Given the description of an element on the screen output the (x, y) to click on. 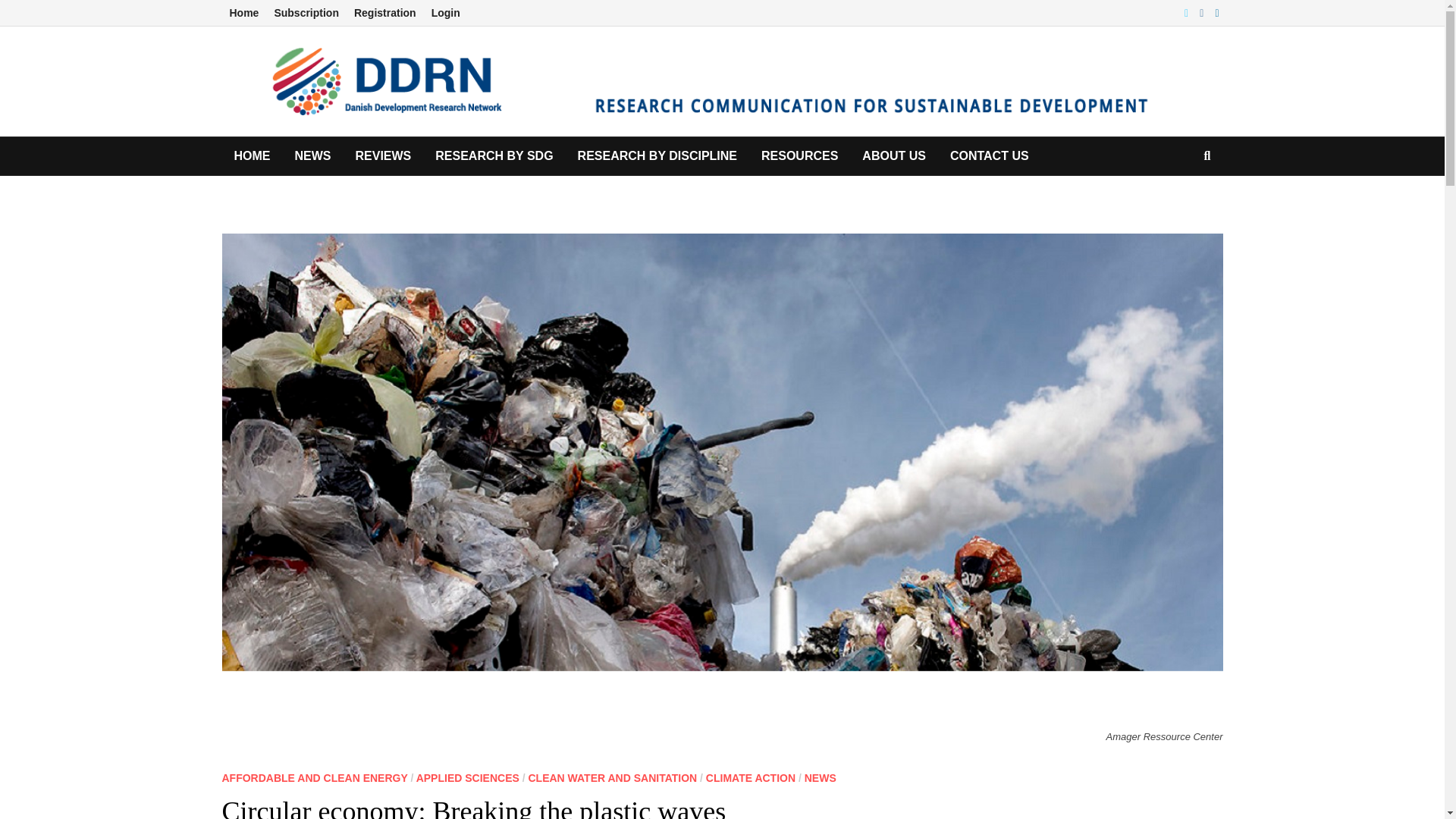
Home (243, 13)
CLIMATE ACTION (750, 777)
Registration (384, 13)
RESOURCES (799, 156)
NEWS (820, 777)
CONTACT US (989, 156)
APPLIED SCIENCES (467, 777)
RESEARCH BY DISCIPLINE (657, 156)
Subscription (306, 13)
Instagram (1203, 11)
